Given the description of an element on the screen output the (x, y) to click on. 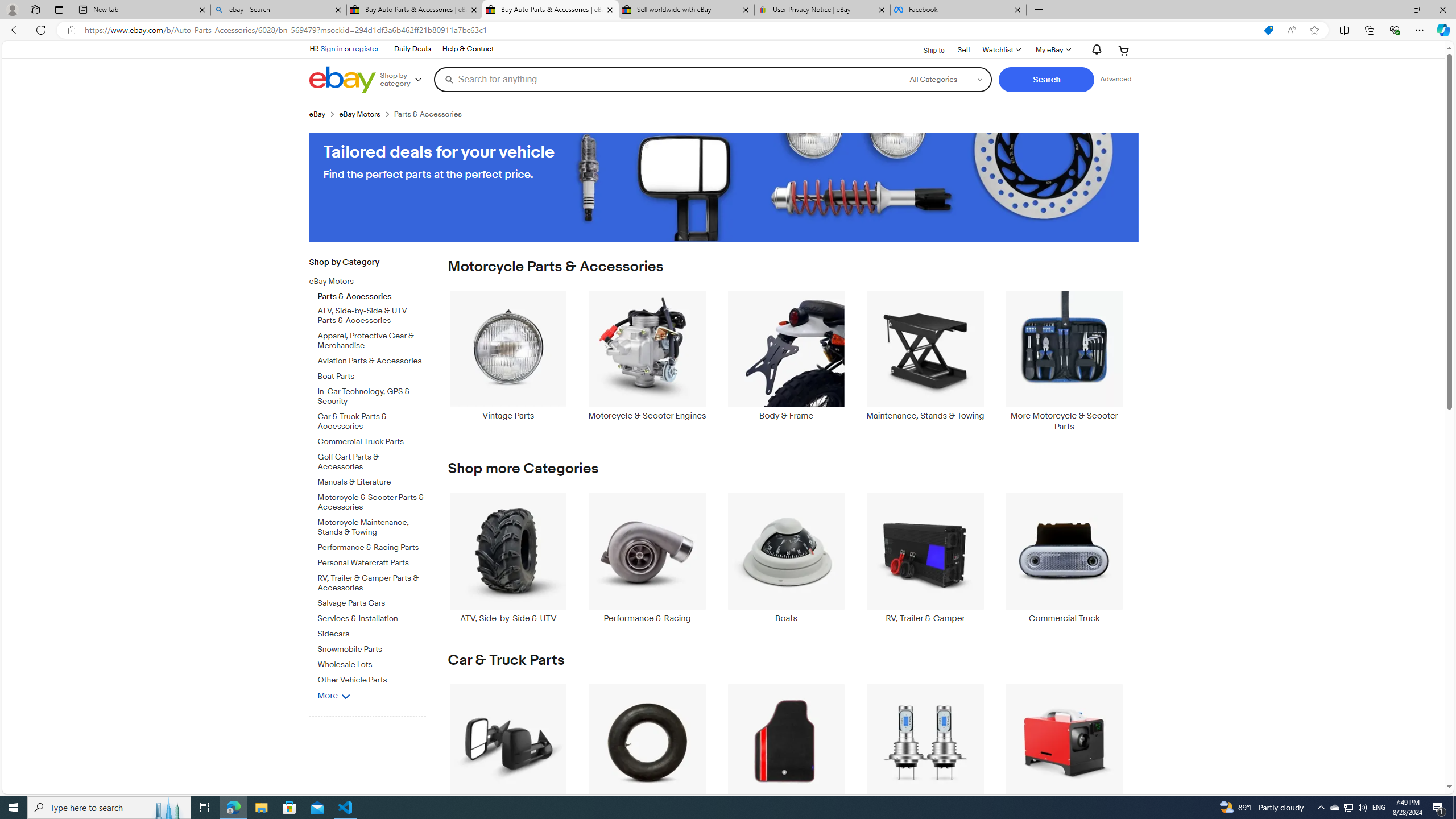
Performance & Racing (646, 558)
Car & Truck Parts & Accessories (371, 419)
WatchlistExpand Watch List (1000, 49)
Expand Cart (1123, 49)
RV, Trailer & Camper Parts & Accessories (371, 583)
Motorcycle & Scooter Parts & Accessories (371, 500)
Personal Watercraft Parts (371, 562)
Commercial Truck (1064, 558)
More View more categories (333, 695)
Lighting & Lamps (925, 748)
Boats (786, 558)
